Given the description of an element on the screen output the (x, y) to click on. 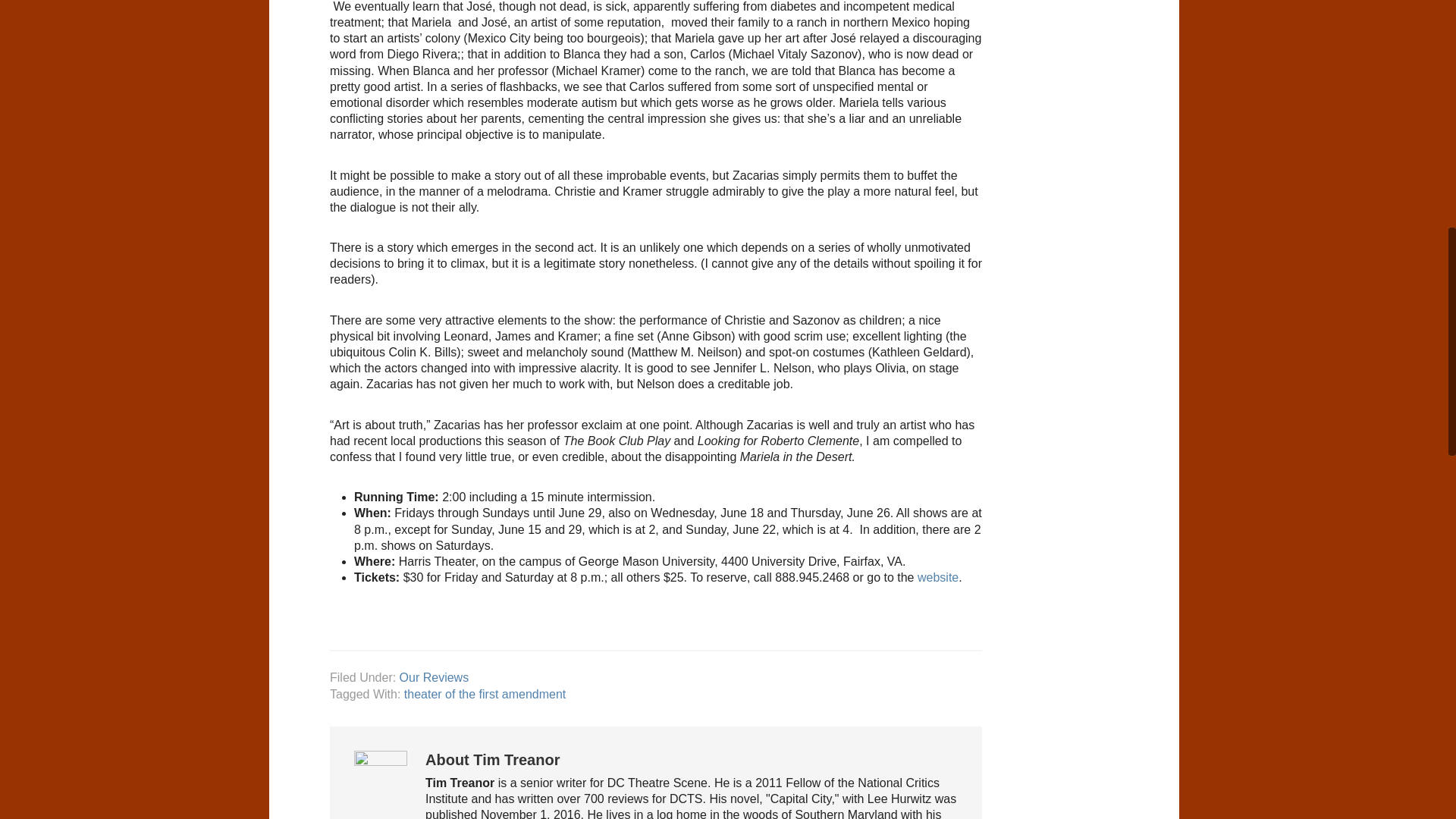
theater of the first amendment (485, 694)
website (937, 576)
Our Reviews (433, 676)
